Given the description of an element on the screen output the (x, y) to click on. 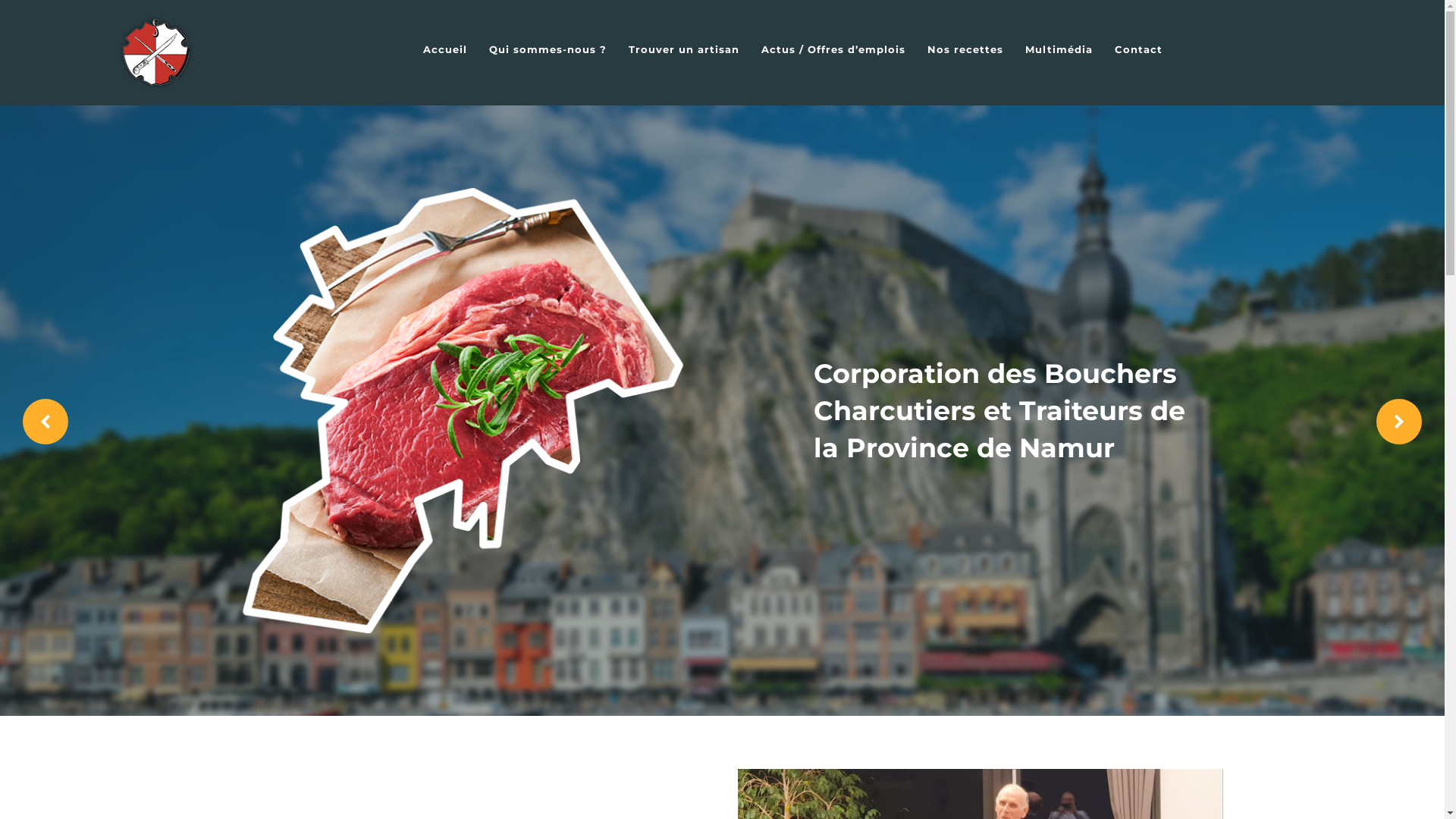
Nos recettes Element type: text (964, 49)
Qui sommes-nous ? Element type: text (547, 49)
logo-corporation Element type: hover (156, 52)
Trouver un artisan Element type: text (683, 49)
Contact Element type: text (1138, 49)
Accueil Element type: text (444, 49)
